Given the description of an element on the screen output the (x, y) to click on. 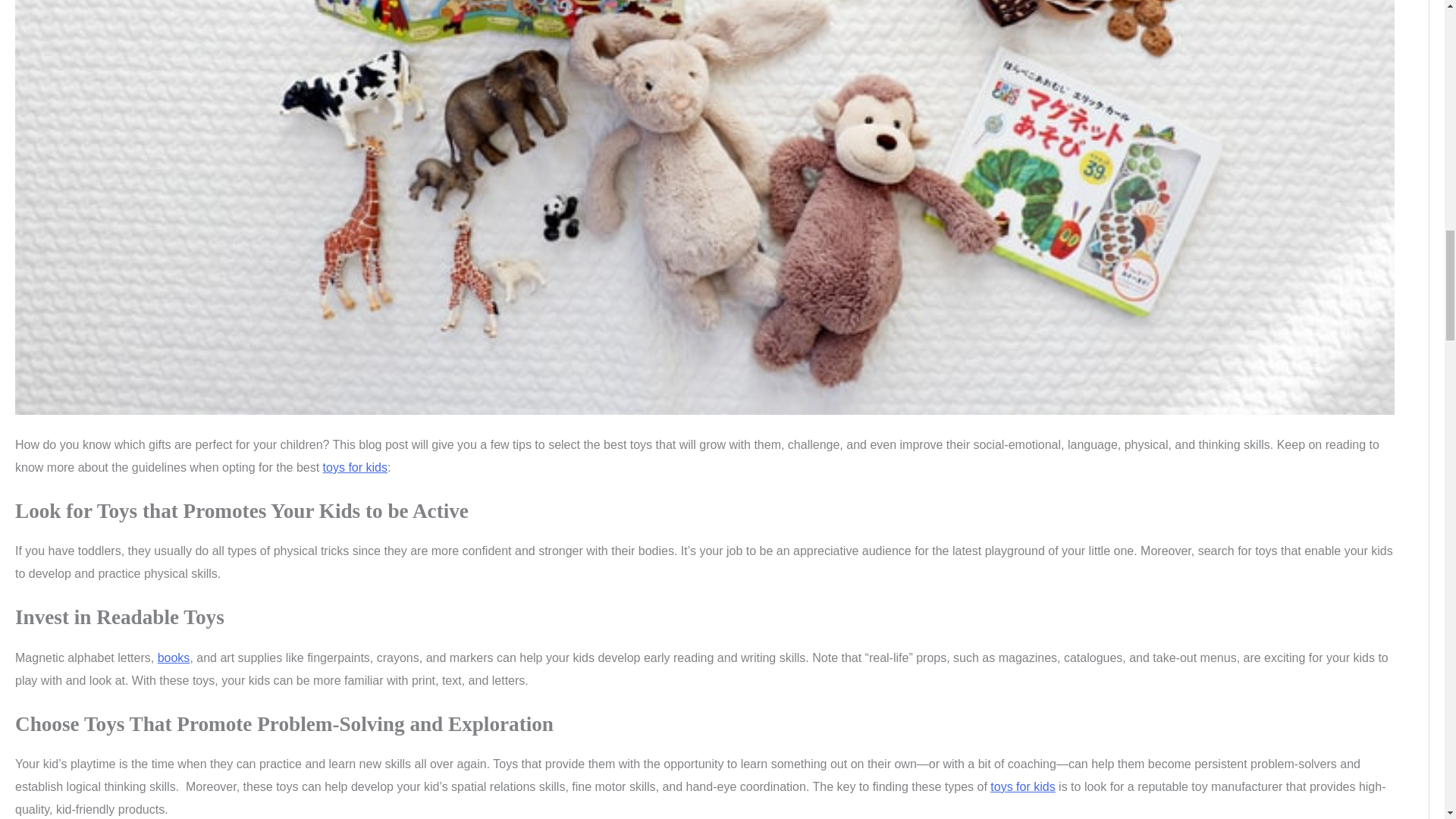
toys for kids (1022, 786)
toys for kids (355, 467)
books (173, 657)
